Given the description of an element on the screen output the (x, y) to click on. 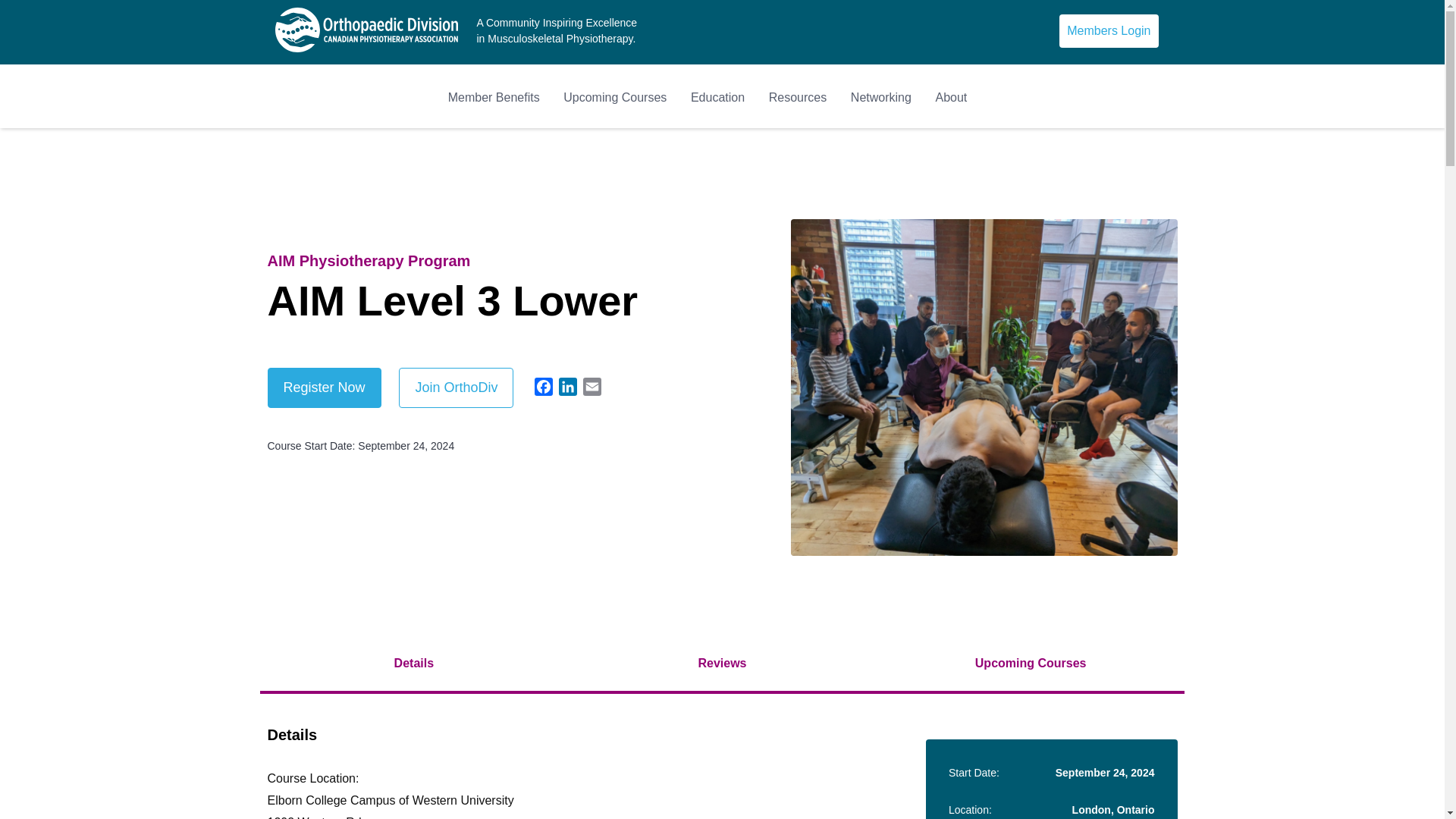
Resources (797, 97)
Join OrthoDiv (455, 387)
Facebook (543, 389)
Upcoming Courses (614, 97)
Member Benefits (494, 97)
LinkedIn (567, 389)
LinkedIn (567, 389)
Networking (880, 97)
Facebook (543, 389)
Education (717, 97)
Email (591, 389)
Email (591, 389)
About (952, 97)
Members Login (1108, 30)
Register Now (323, 387)
